Given the description of an element on the screen output the (x, y) to click on. 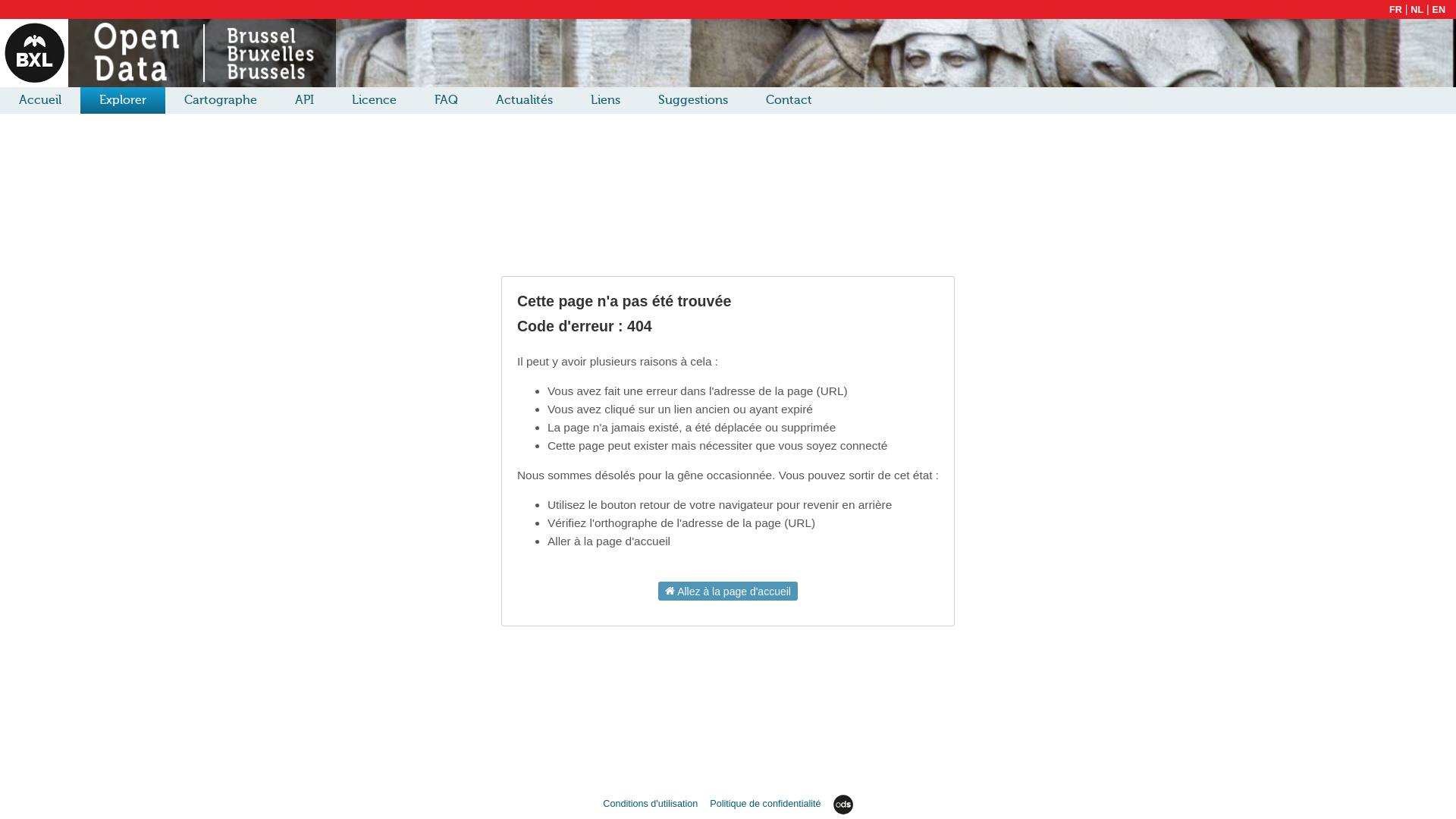
Liens Element type: text (605, 100)
EN Element type: text (1438, 9)
Licence Element type: text (373, 100)
Accueil Element type: text (40, 100)
Conditions d'utilisation Element type: text (651, 803)
FAQ Element type: text (445, 100)
Suggestions Element type: text (692, 100)
FR Element type: text (1395, 9)
Cartographe Element type: text (220, 100)
Explorer Element type: text (122, 100)
API Element type: text (304, 100)
Contact Element type: text (788, 100)
NL Element type: text (1416, 9)
